Given the description of an element on the screen output the (x, y) to click on. 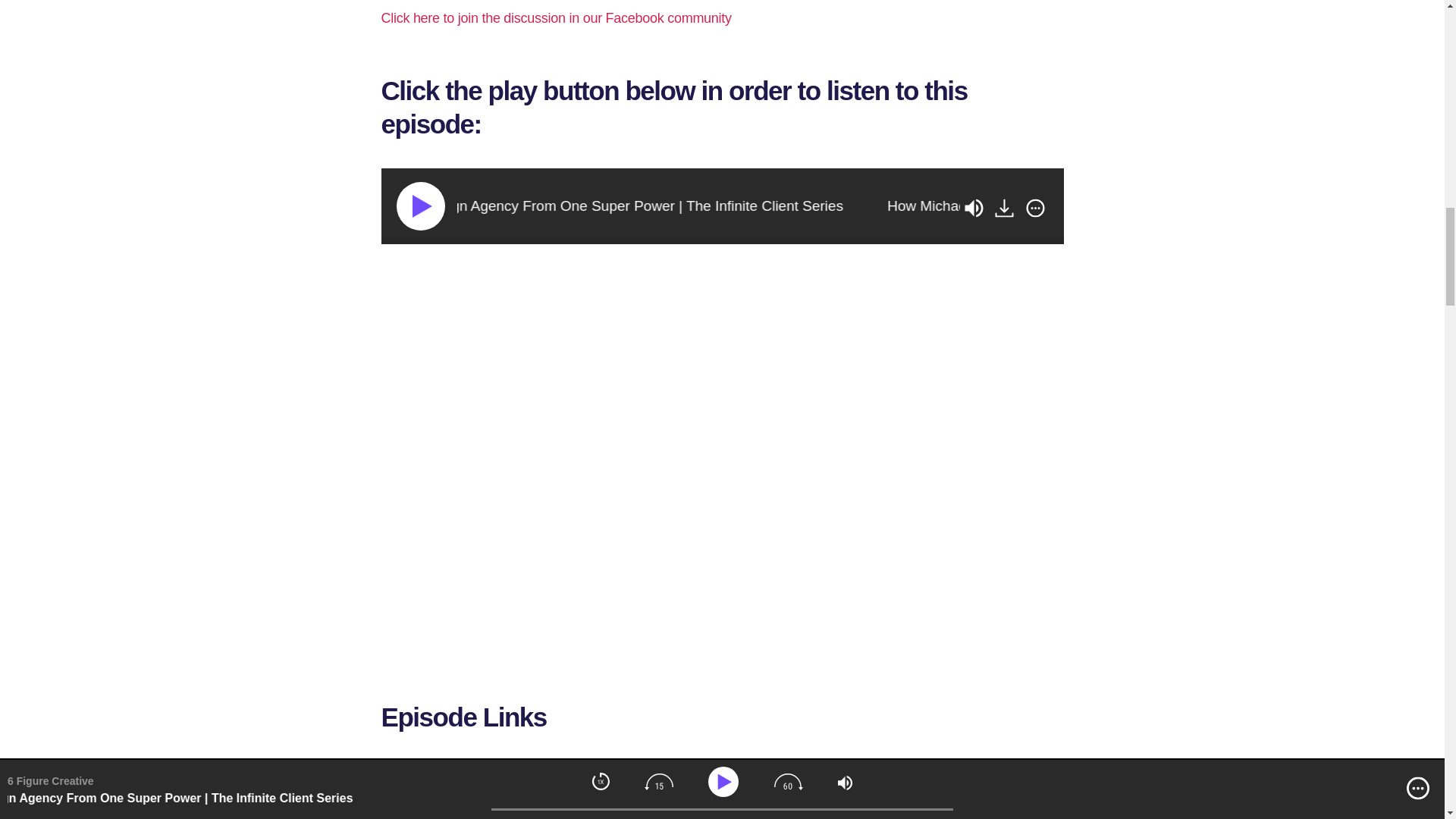
Download (1004, 208)
Click here to join the discussion in our Facebook community (555, 17)
More (1035, 208)
Download (1006, 208)
